Given the description of an element on the screen output the (x, y) to click on. 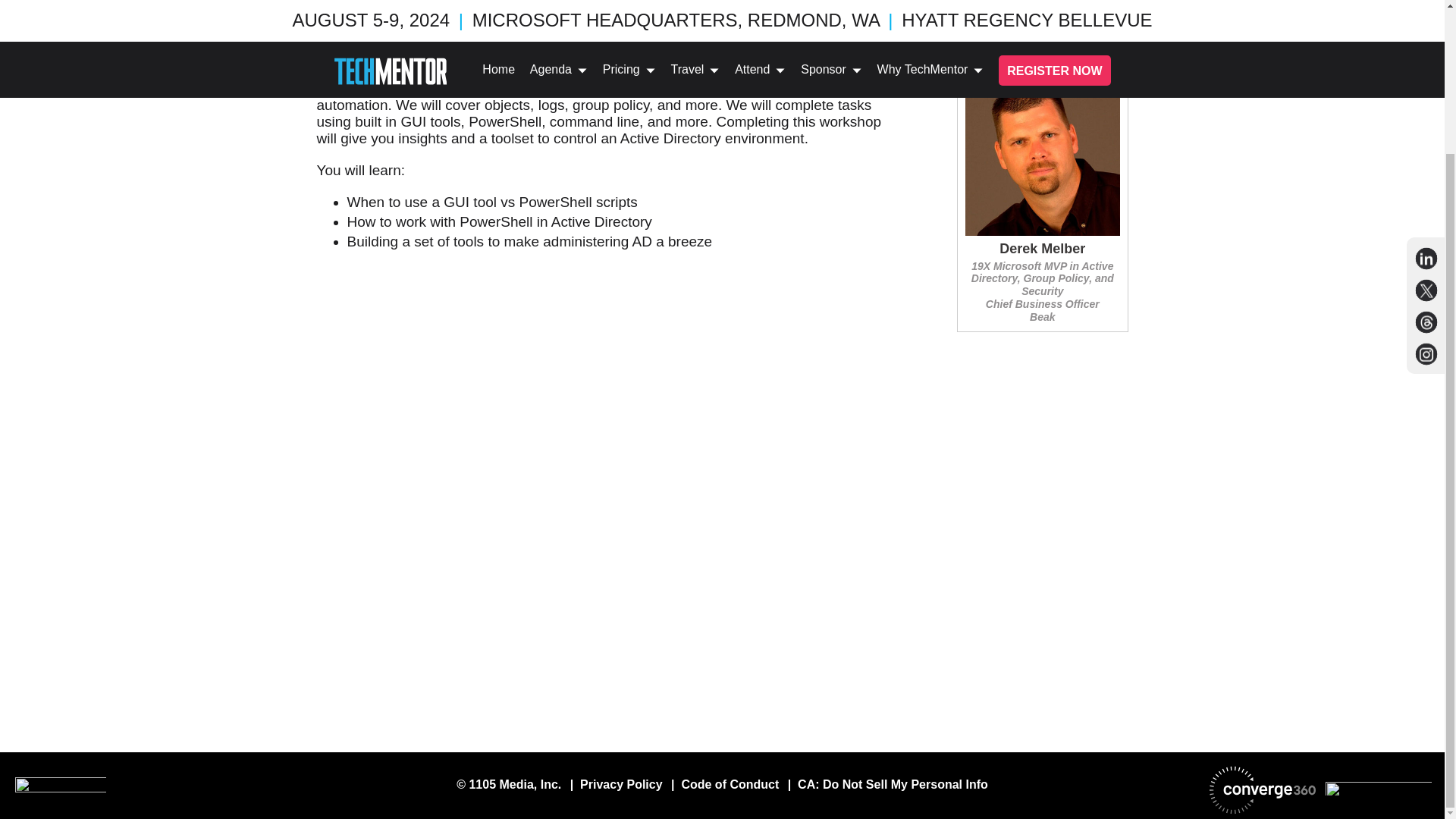
Code of Conduct (729, 784)
Privacy Policy (620, 784)
Derek Melber (1042, 249)
